Given the description of an element on the screen output the (x, y) to click on. 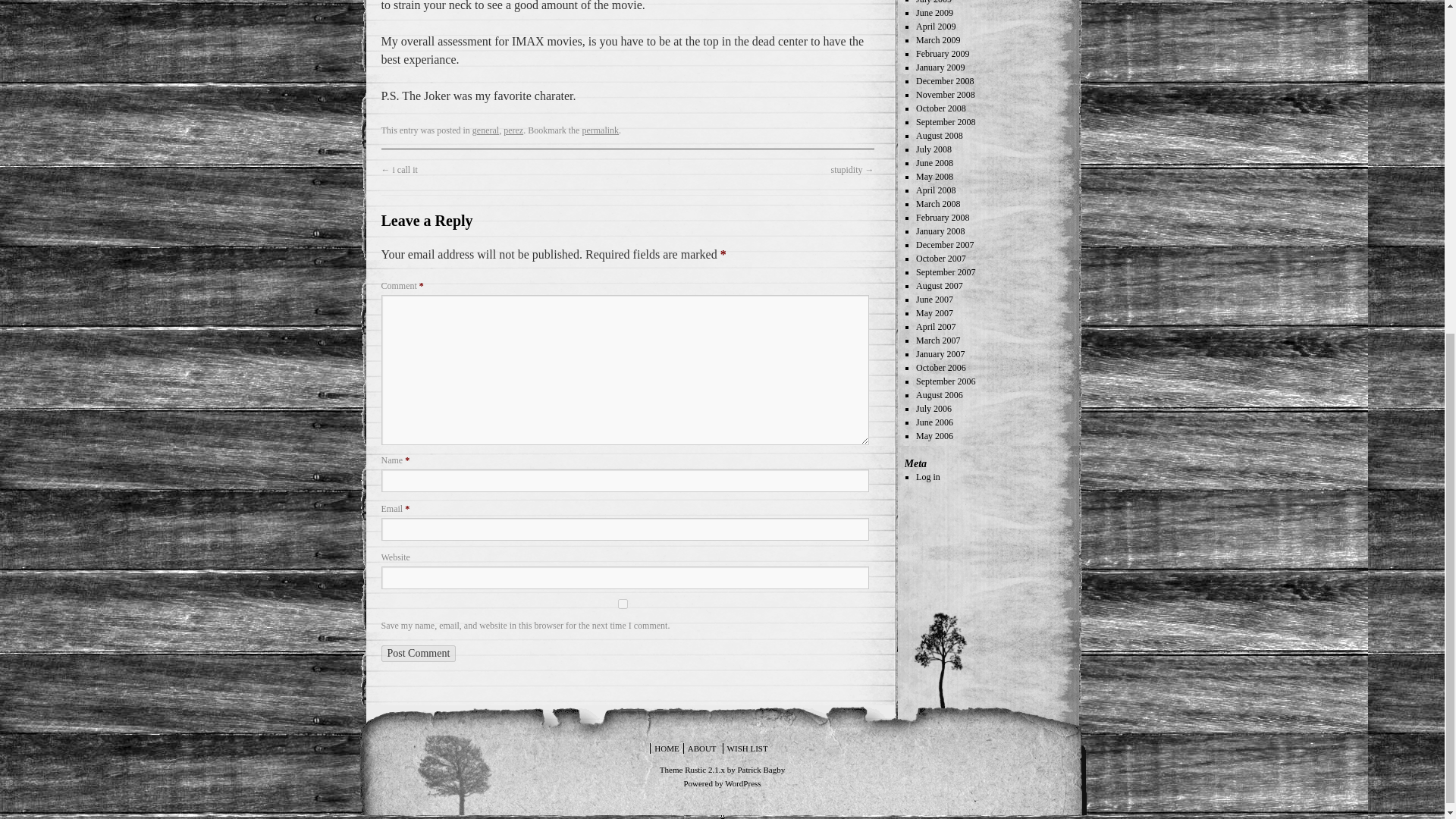
yes (621, 603)
March 2009 (937, 40)
perez (512, 130)
Post Comment (417, 653)
June 2009 (934, 12)
Permalink to the dark knight (599, 130)
July 2009 (933, 2)
April 2009 (935, 26)
January 2009 (939, 67)
general (485, 130)
